Given the description of an element on the screen output the (x, y) to click on. 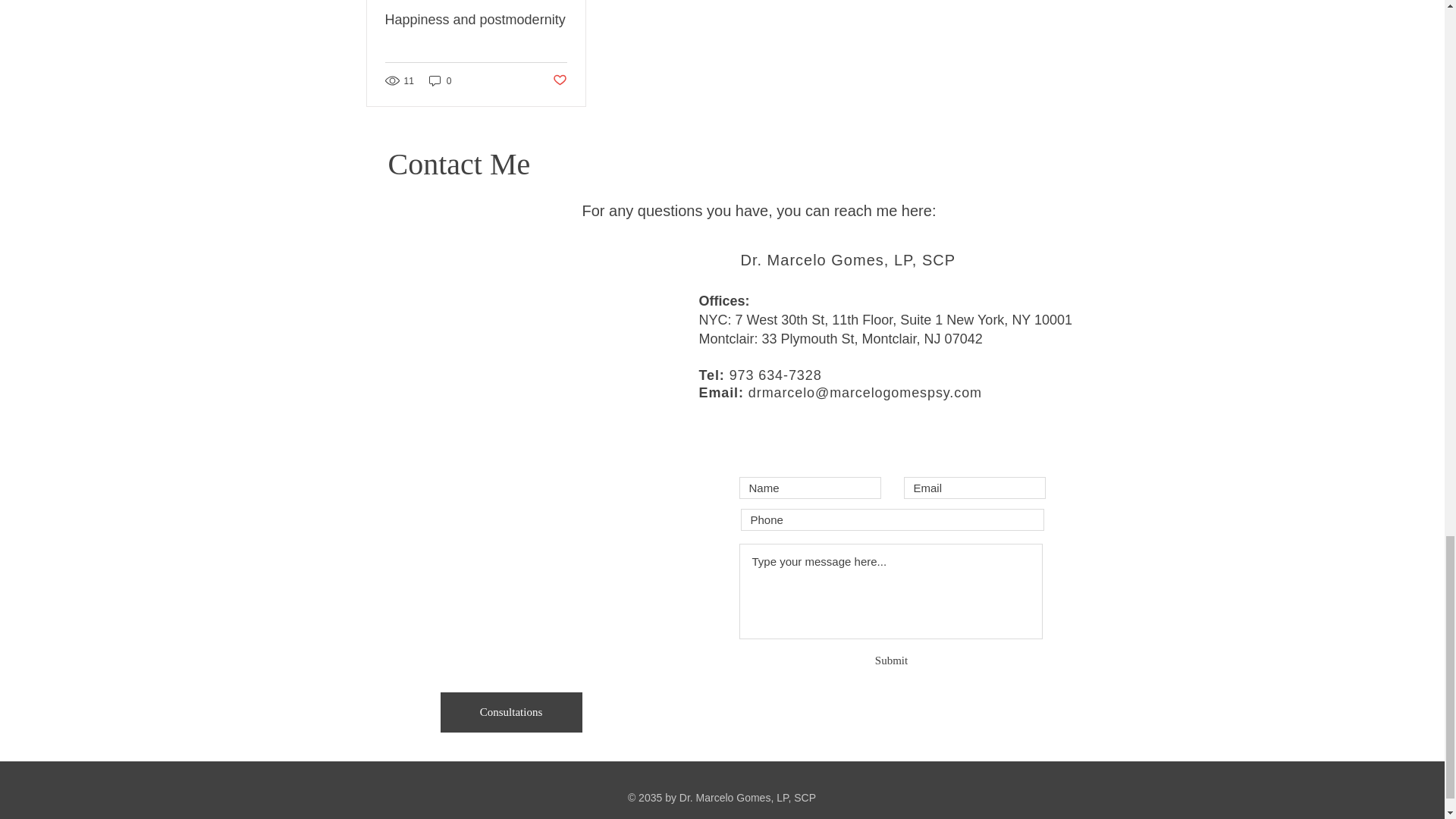
Submit (890, 660)
Consultations (509, 712)
Happiness and postmodernity (476, 19)
0 (440, 80)
Post not marked as liked (558, 80)
